Given the description of an element on the screen output the (x, y) to click on. 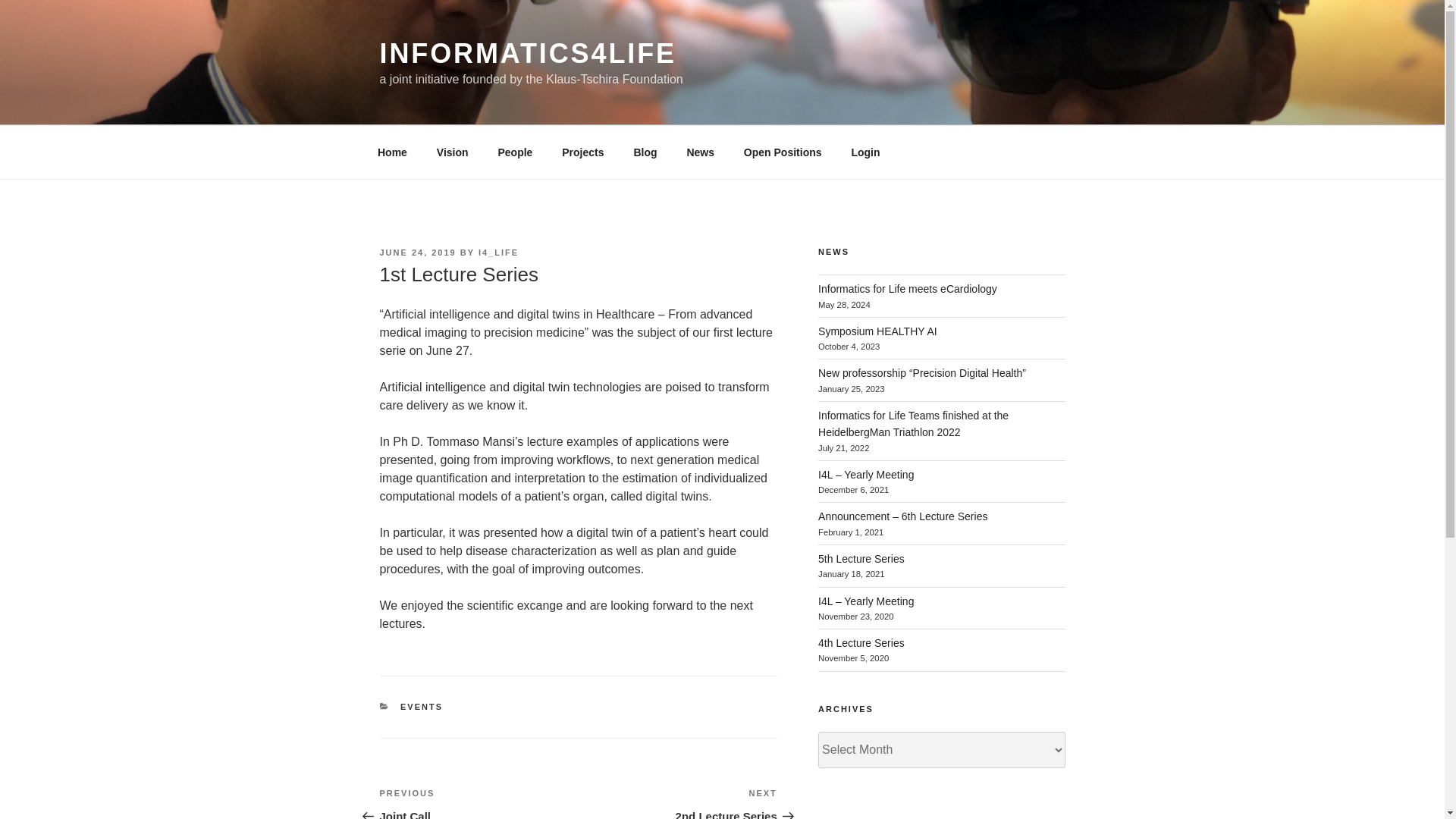
People (515, 151)
Login (865, 151)
Open Positions (782, 151)
EVENTS (421, 706)
News (700, 151)
INFORMATICS4LIFE (526, 52)
5th Lecture Series (677, 803)
Informatics for Life meets eCardiology (861, 558)
Home (907, 288)
